Given the description of an element on the screen output the (x, y) to click on. 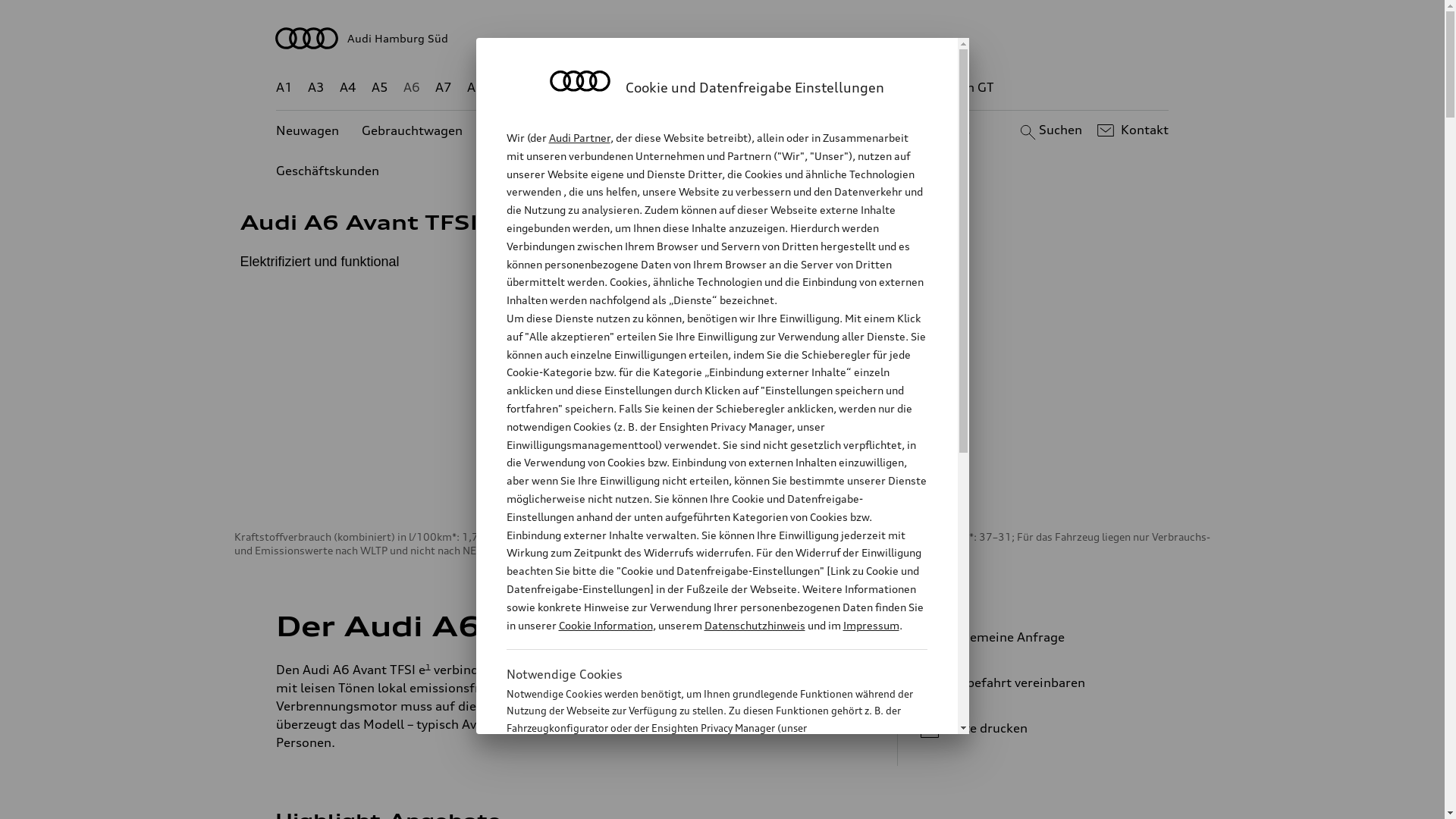
Q4 e-tron Element type: text (592, 87)
Suchen Element type: text (1049, 130)
1 Element type: text (501, 218)
Q2 Element type: text (507, 87)
Impressum Element type: text (871, 624)
1 Element type: text (427, 665)
Seite drucken Element type: text (1044, 727)
Gebrauchtwagen Element type: text (411, 130)
Q7 Element type: text (678, 87)
Audi Partner Element type: text (579, 137)
TT Element type: text (814, 87)
A3 Element type: text (315, 87)
Datenschutzhinweis Element type: text (753, 624)
Allgemeine Anfrage Element type: text (1038, 636)
Q5 Element type: text (645, 87)
g-tron Element type: text (903, 87)
Angebote Element type: text (636, 130)
Cookie Information Element type: text (700, 802)
Probefahrt vereinbaren Element type: text (1038, 682)
RS Element type: text (861, 87)
Q8 e-tron Element type: text (763, 87)
A1 Element type: text (284, 87)
Audi on demand Element type: text (735, 130)
A5 Element type: text (379, 87)
Kontakt Element type: text (1130, 130)
e-tron GT Element type: text (965, 87)
A7 Element type: text (443, 87)
Q3 Element type: text (540, 87)
Cookie Information Element type: text (605, 624)
A6 Element type: text (411, 87)
Kundenservice Element type: text (850, 130)
Q8 Element type: text (710, 87)
A8 Element type: text (475, 87)
Neuwagen Element type: text (307, 130)
1 Element type: text (702, 622)
A4 Element type: text (347, 87)
